Given the description of an element on the screen output the (x, y) to click on. 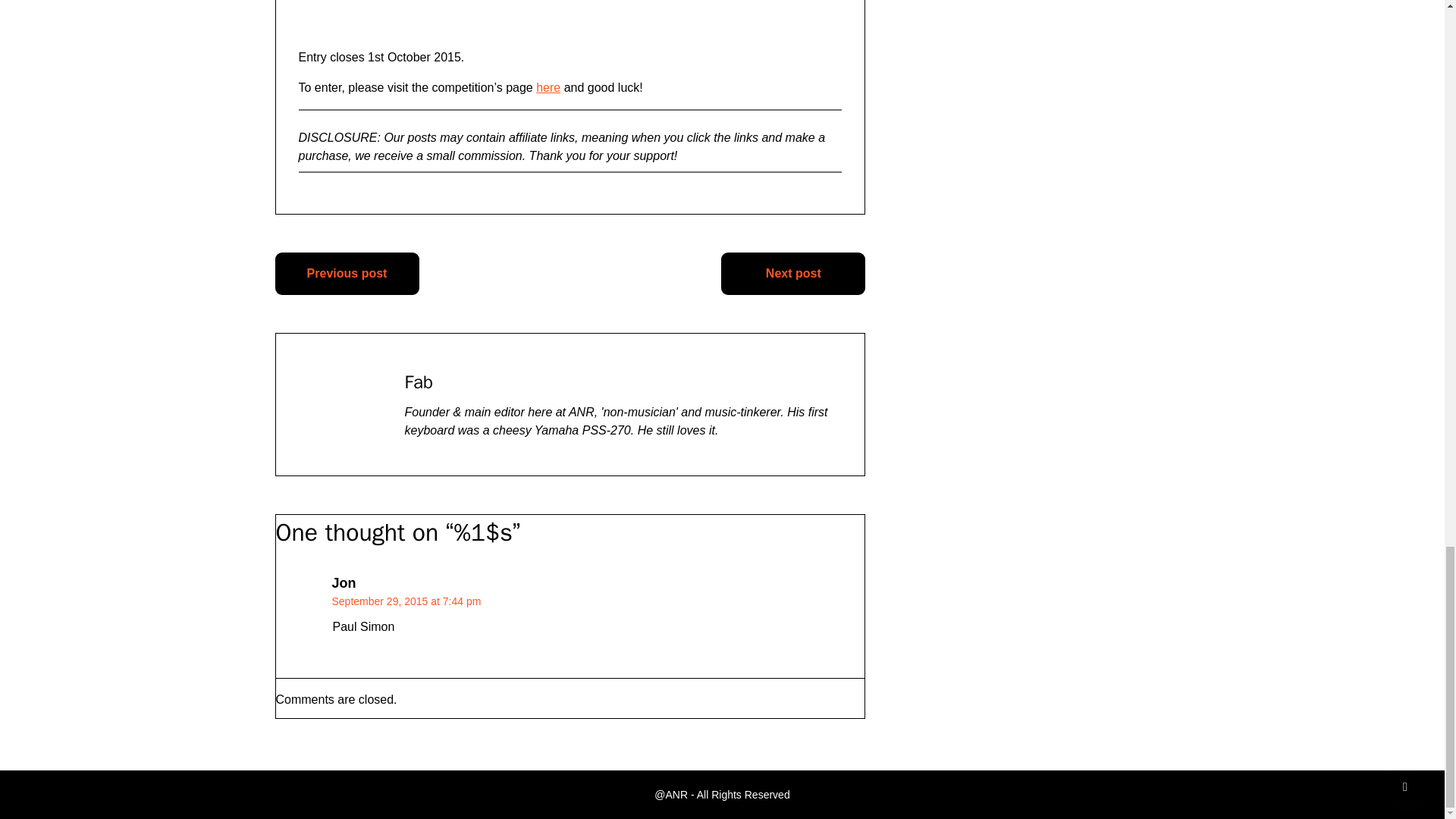
here (547, 87)
Next post (792, 273)
Previous post (347, 273)
September 29, 2015 at 7:44 pm (406, 601)
